Given the description of an element on the screen output the (x, y) to click on. 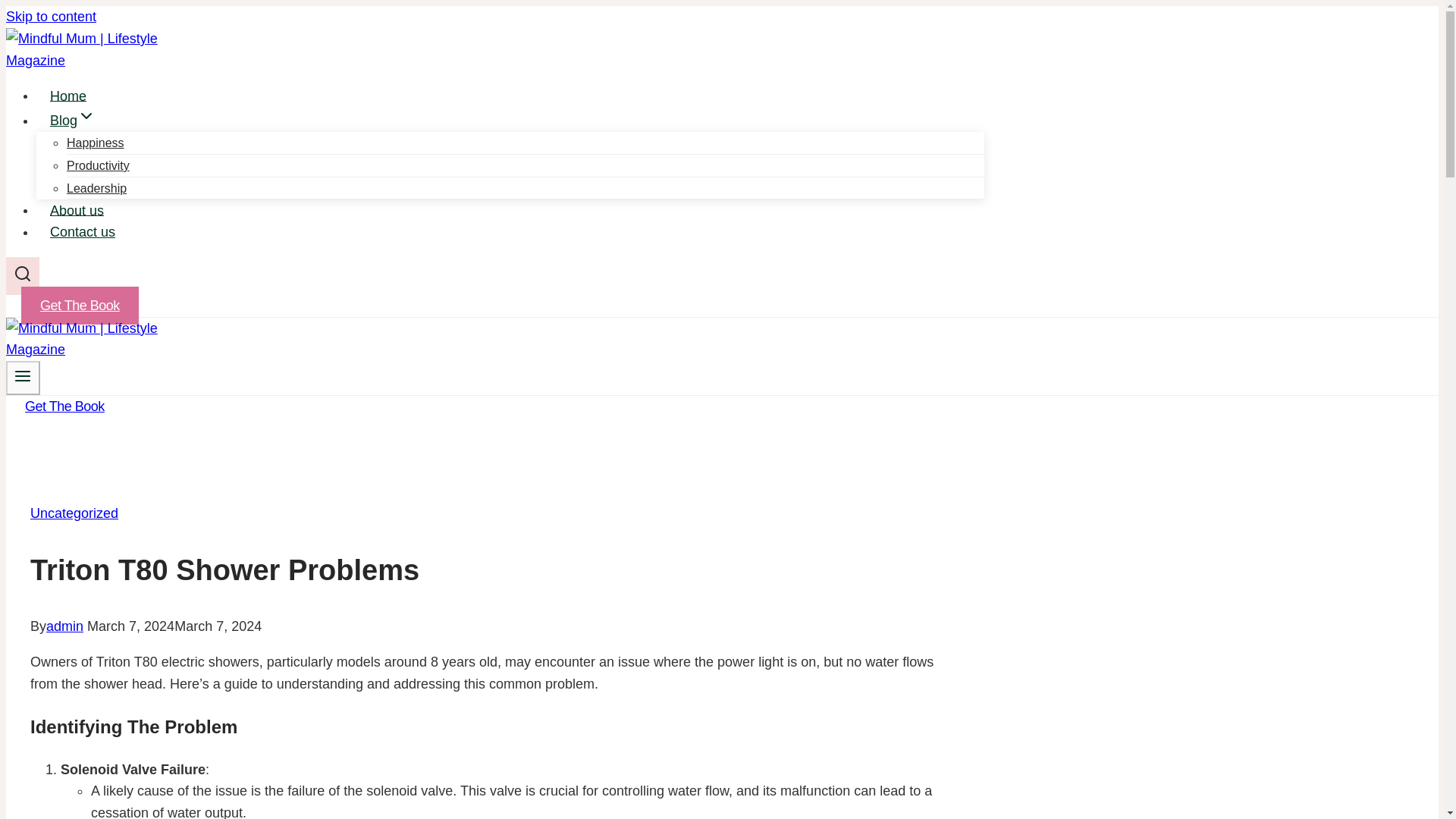
BlogExpand (72, 120)
Get The Book (79, 305)
Home (68, 96)
Toggle Menu (22, 377)
Uncategorized (73, 513)
Leadership (96, 188)
About us (76, 210)
Toggle Menu (22, 375)
Search (22, 273)
Skip to content (50, 16)
Skip to content (50, 16)
Productivity (97, 165)
Expand (86, 116)
Contact us (82, 232)
admin (64, 626)
